Given the description of an element on the screen output the (x, y) to click on. 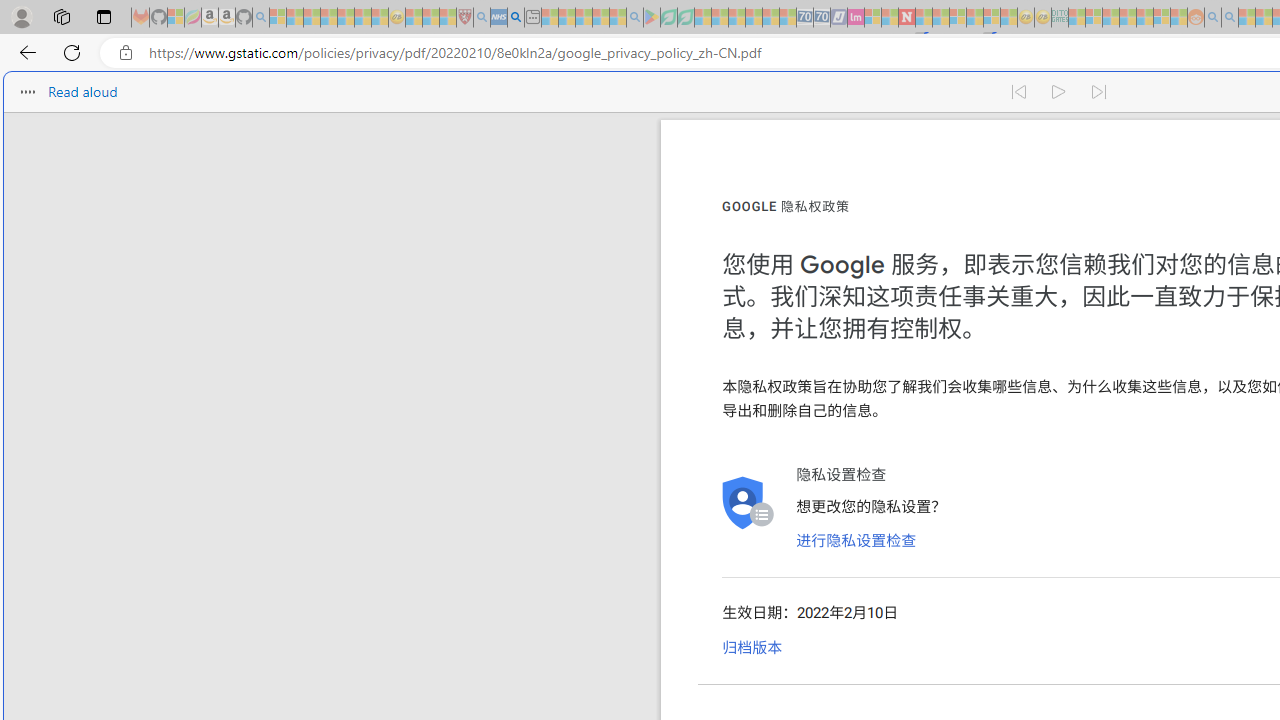
Read next paragraph (1099, 92)
Continue to read aloud (Ctrl+Shift+U) (1059, 92)
